Given the description of an element on the screen output the (x, y) to click on. 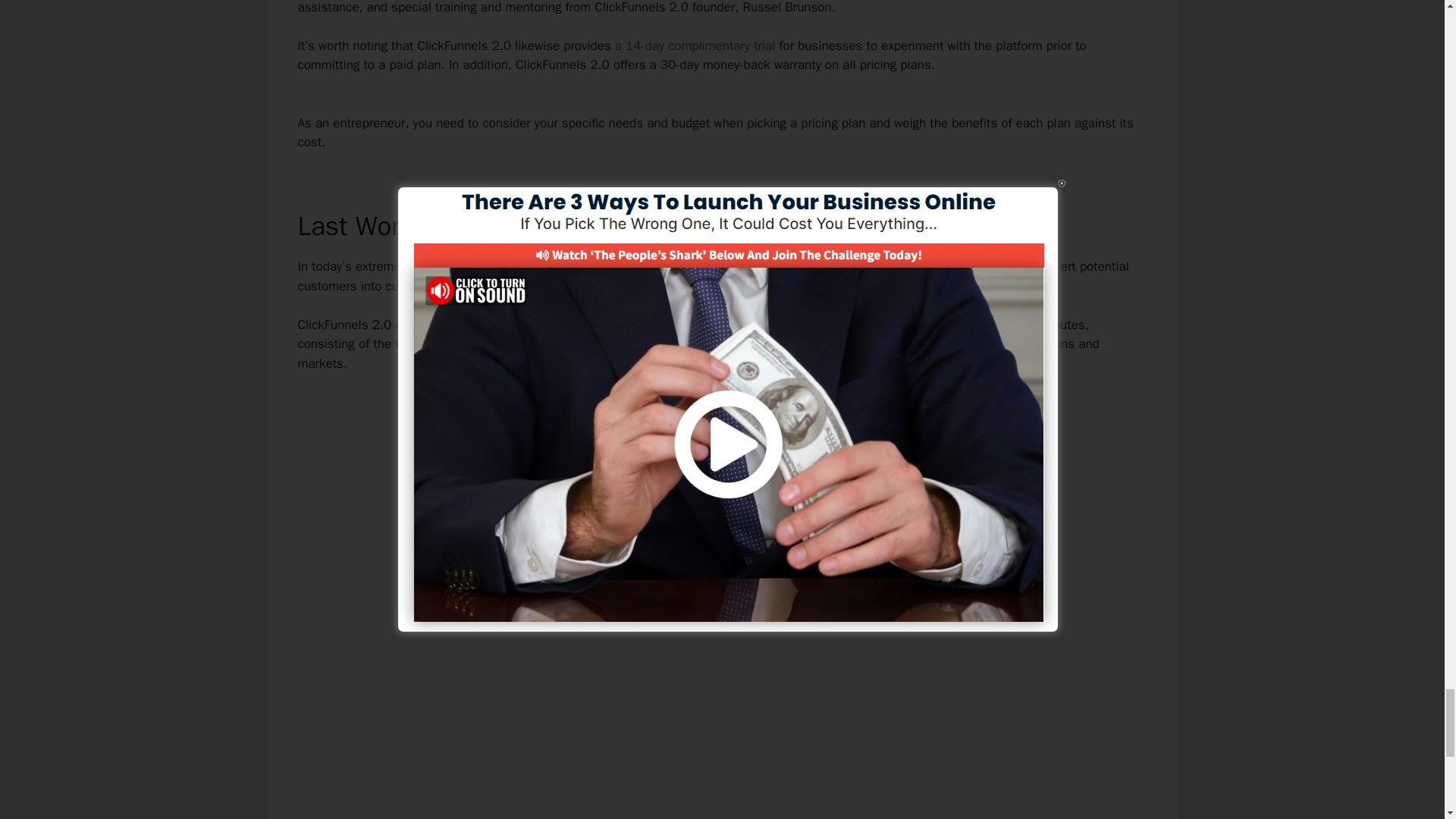
a 14-day complimentary trial (695, 45)
